Given the description of an element on the screen output the (x, y) to click on. 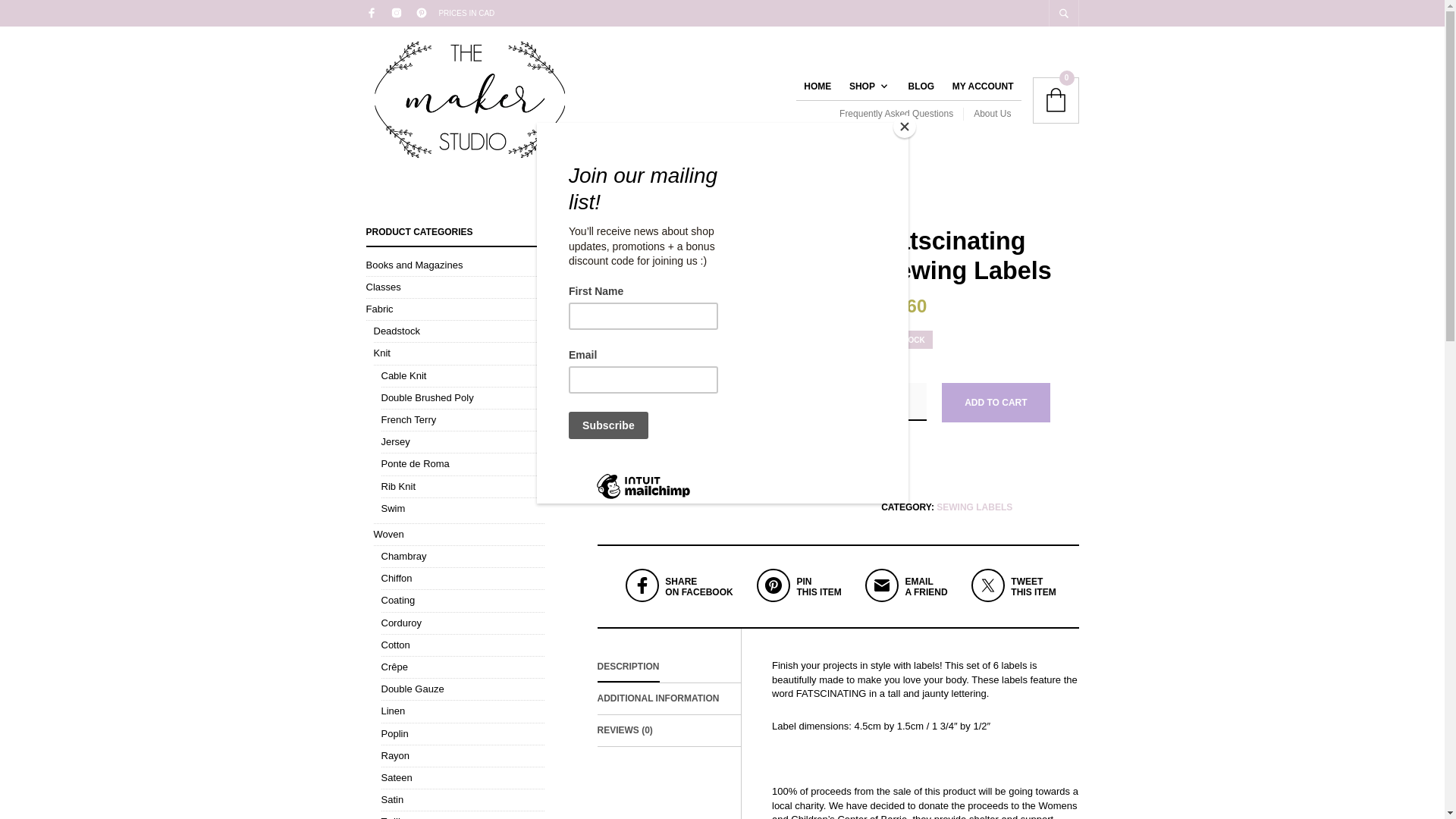
PayPal (979, 462)
About Us (676, 599)
Frequently Asked Questions (991, 113)
HOME (901, 113)
ADDITIONAL INFORMATION (817, 86)
SHOP (657, 698)
DESCRIPTION (865, 86)
SEWING LABELS (627, 666)
MY ACCOUNT (973, 507)
1 (983, 86)
BLOG (903, 401)
ADD TO CART (903, 599)
